Given the description of an element on the screen output the (x, y) to click on. 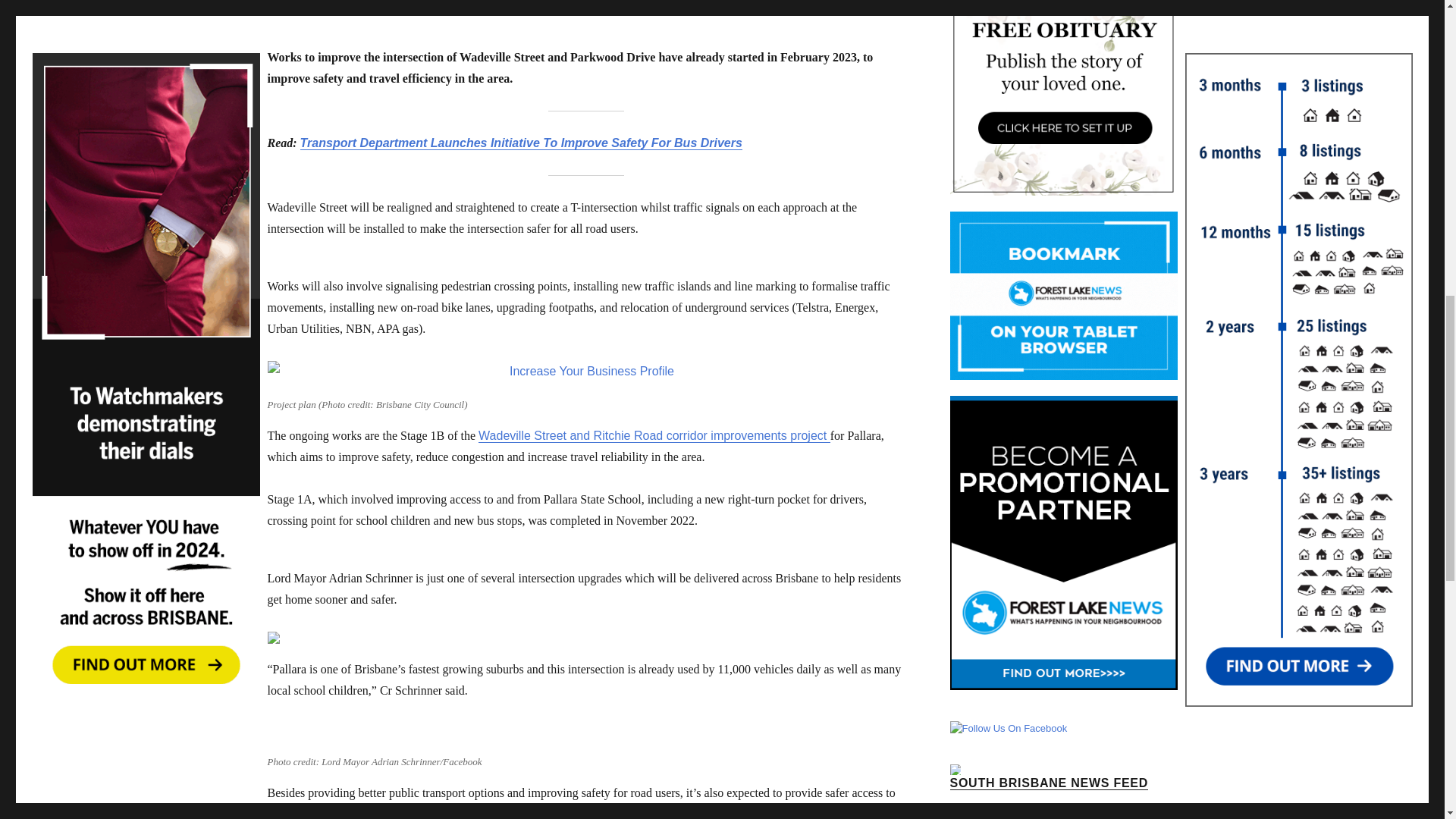
SOUTH BRISBANE NEWS FEED (1048, 782)
